Given the description of an element on the screen output the (x, y) to click on. 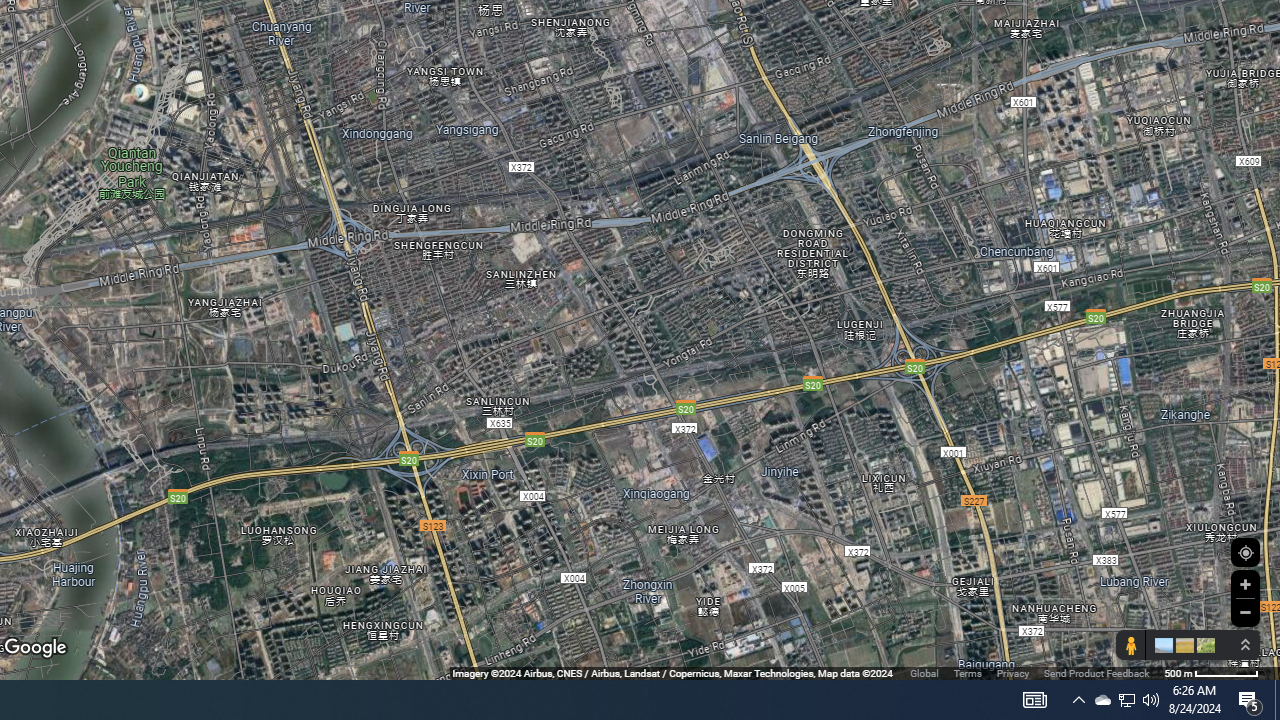
Zoom out (1245, 612)
Zoom in (1245, 584)
Show Your Location (1245, 552)
Send Product Feedback (1096, 672)
Global (924, 672)
Show Street View coverage (1130, 645)
500 m (1211, 672)
Show imagery (1202, 645)
